Given the description of an element on the screen output the (x, y) to click on. 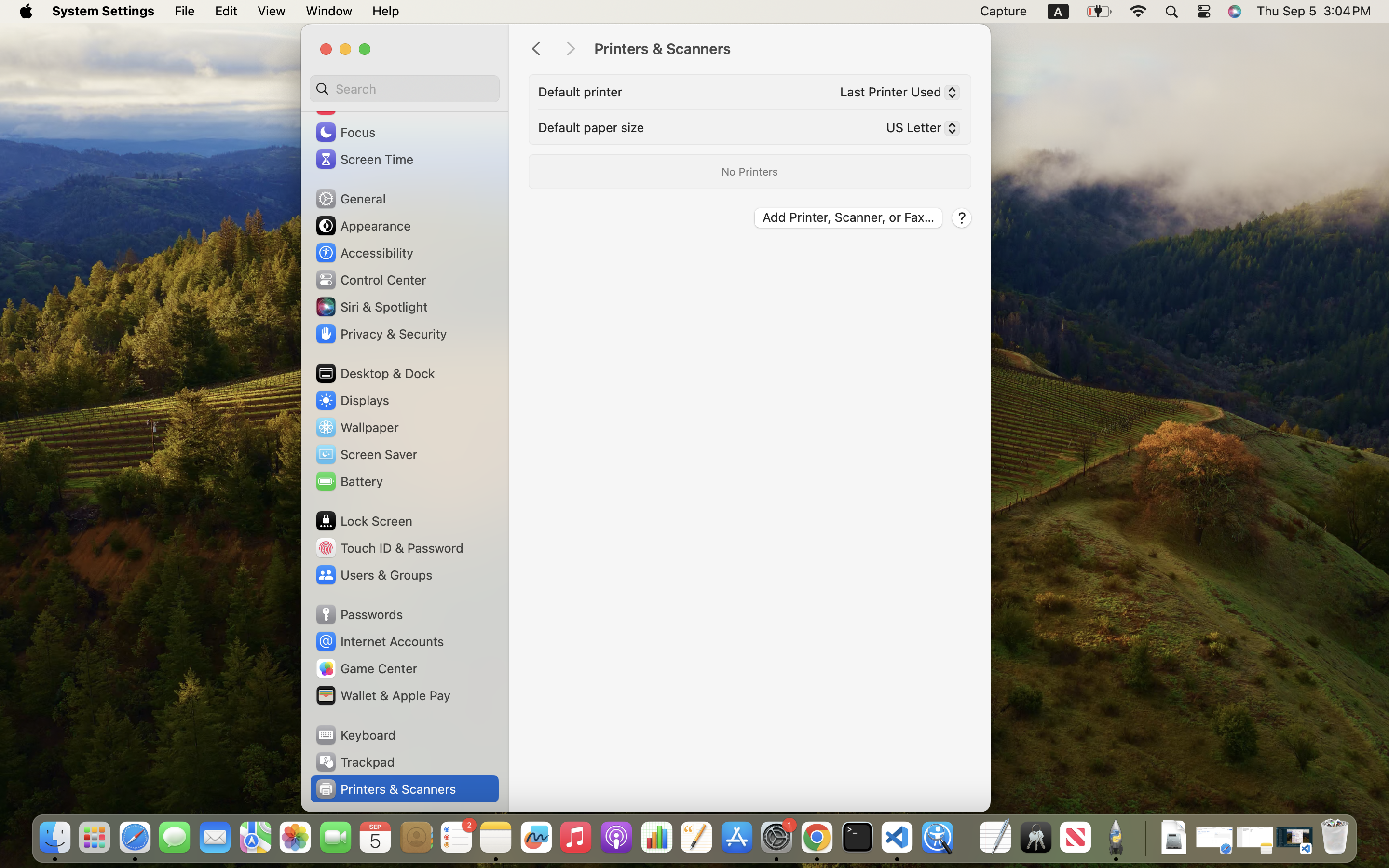
Appearance Element type: AXStaticText (362, 225)
Screen Saver Element type: AXStaticText (365, 453)
Control Center Element type: AXStaticText (370, 279)
Internet Accounts Element type: AXStaticText (378, 640)
Privacy & Security Element type: AXStaticText (380, 333)
